Given the description of an element on the screen output the (x, y) to click on. 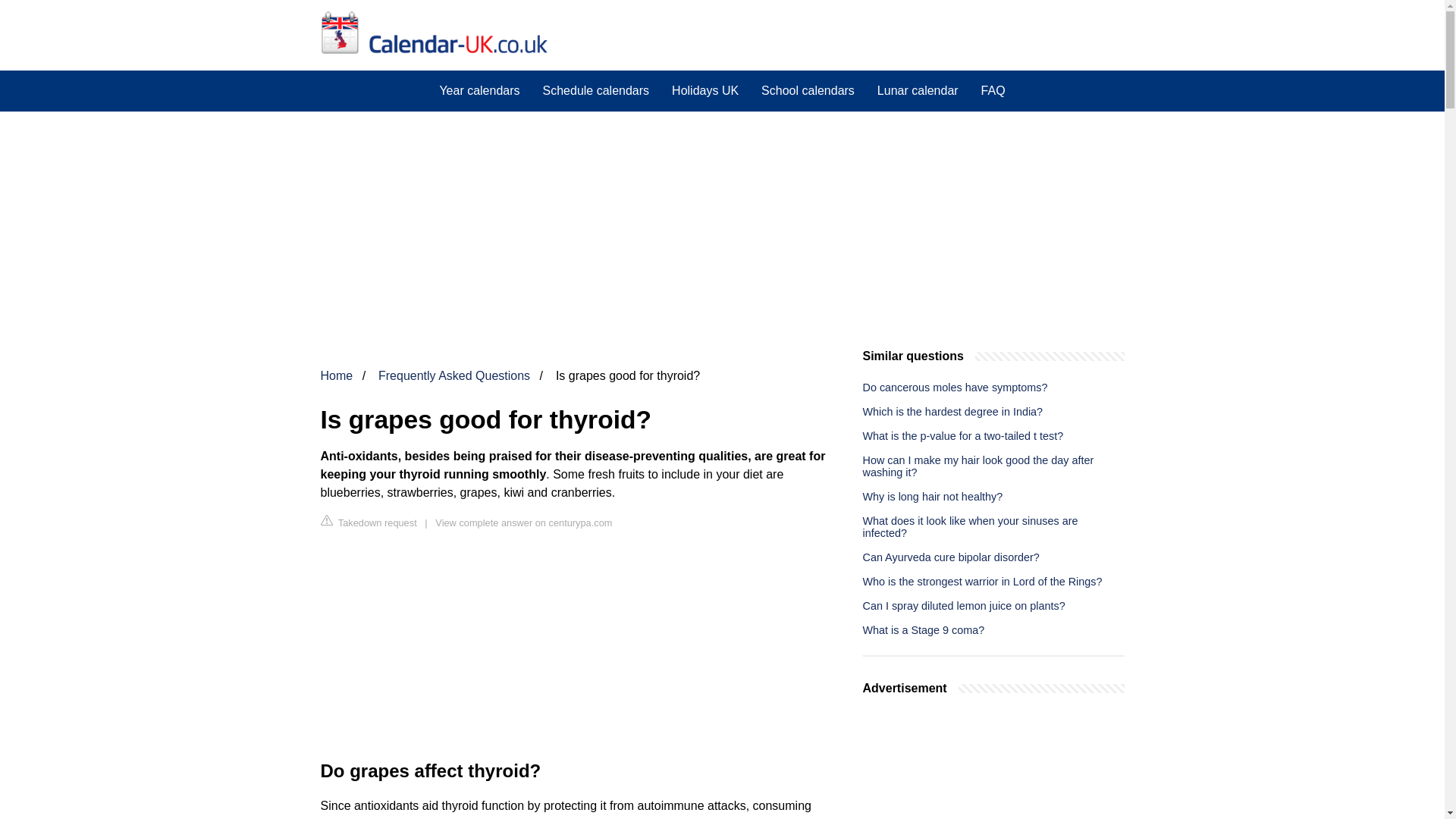
Takedown request (368, 521)
Year calendars (479, 90)
View complete answer on centurypa.com (523, 522)
FAQ (992, 90)
Holidays UK (705, 90)
Schedule calendars (596, 90)
Lunar calendar (917, 90)
Frequently Asked Questions (453, 375)
School calendars (807, 90)
Home (336, 375)
